Given the description of an element on the screen output the (x, y) to click on. 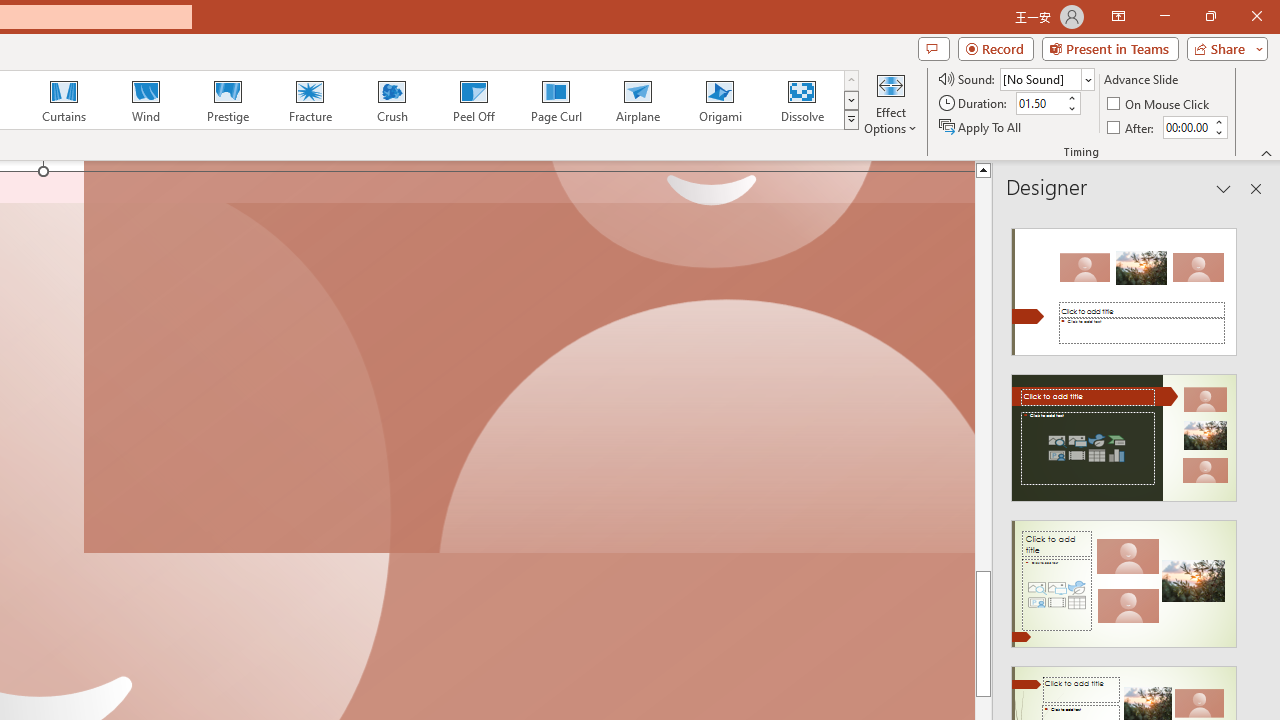
Less (1218, 132)
More (1218, 121)
Sound (1046, 78)
After (1131, 126)
Recommended Design: Design Idea (1124, 286)
On Mouse Click (1159, 103)
Dissolve (802, 100)
